Given the description of an element on the screen output the (x, y) to click on. 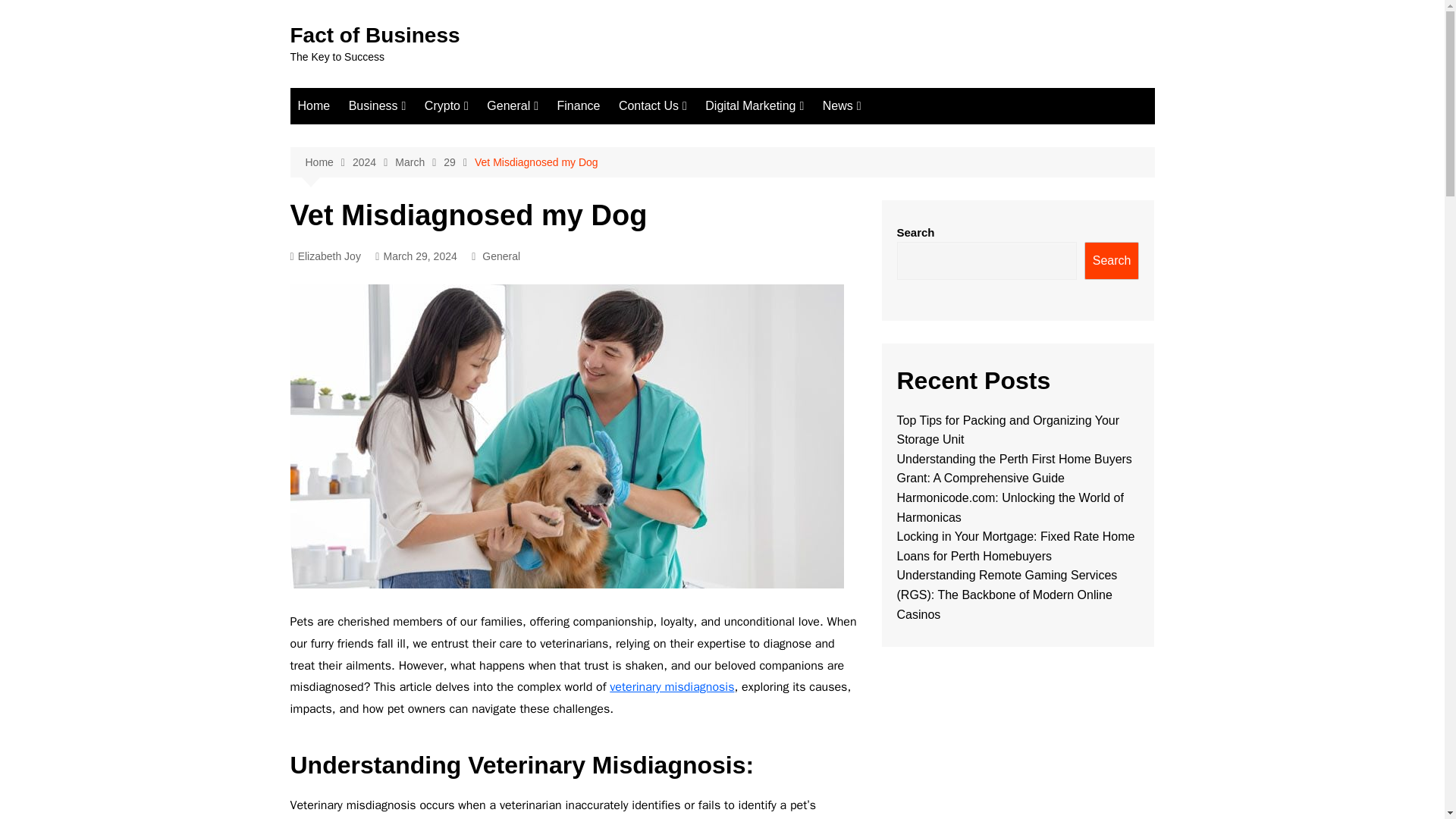
NetWorth (424, 162)
Fact of Business (374, 34)
Advertising (729, 211)
Disclaimer (694, 224)
Bitcoin (499, 161)
Marketing (591, 136)
Write For Us (694, 161)
Home (313, 105)
Privacy Policy (694, 274)
Outsourcing (591, 161)
Human Resources (729, 261)
Branding (729, 161)
Finance (577, 105)
Contact Us (652, 105)
Content Marketing (780, 136)
